Given the description of an element on the screen output the (x, y) to click on. 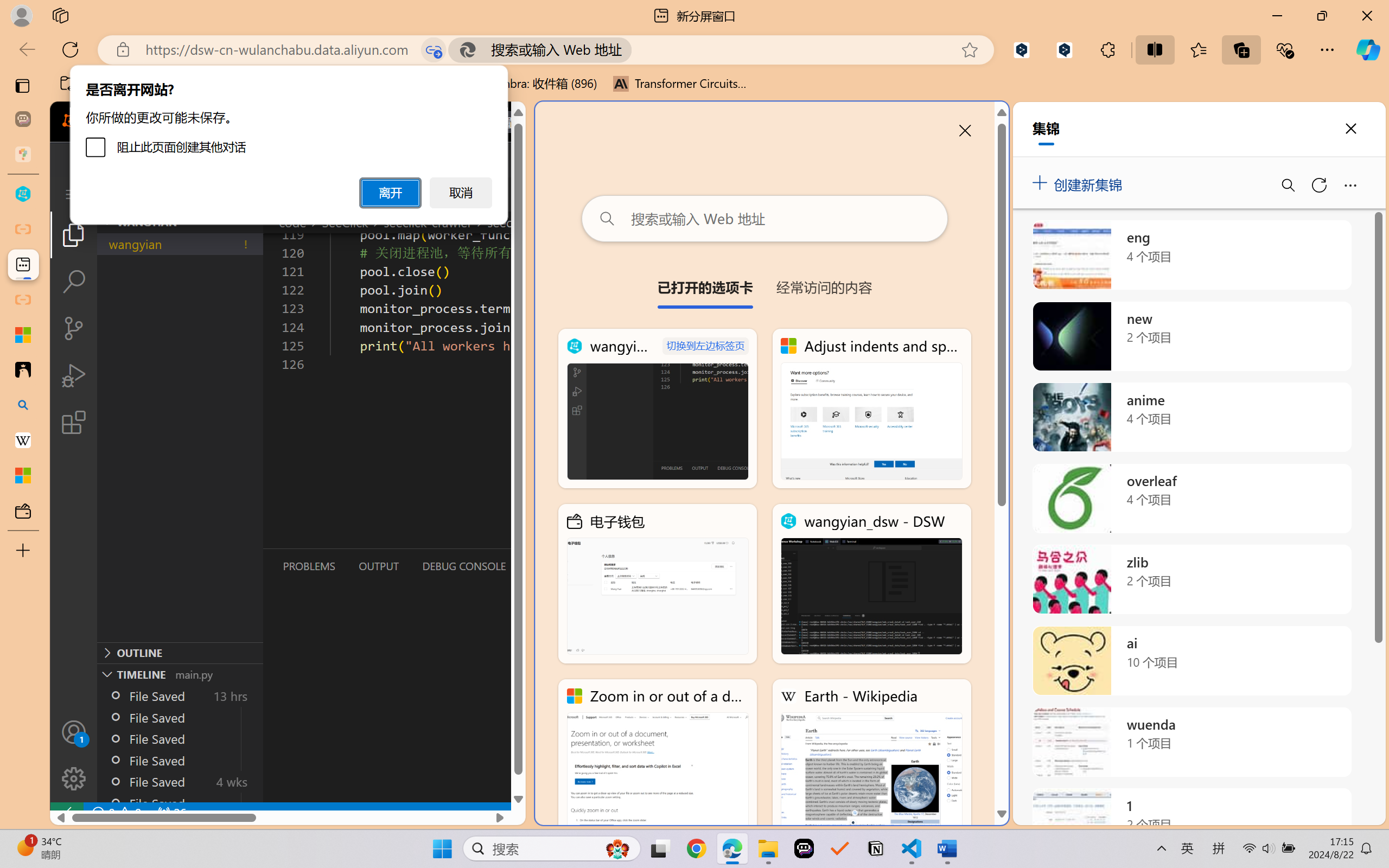
Zoom 58% (1364, 837)
More Options (774, 73)
Freeform: Shape (518, 72)
System (6, 6)
Designer (843, 62)
Record (305, 29)
Align Text (448, 62)
Columns (406, 71)
Freeform: Scribble (528, 72)
Close (1376, 10)
Accessibility (1377, 156)
Reading View (1245, 837)
Czech (detected) (1256, 136)
Normal (1201, 837)
Slide (186, 148)
